Given the description of an element on the screen output the (x, y) to click on. 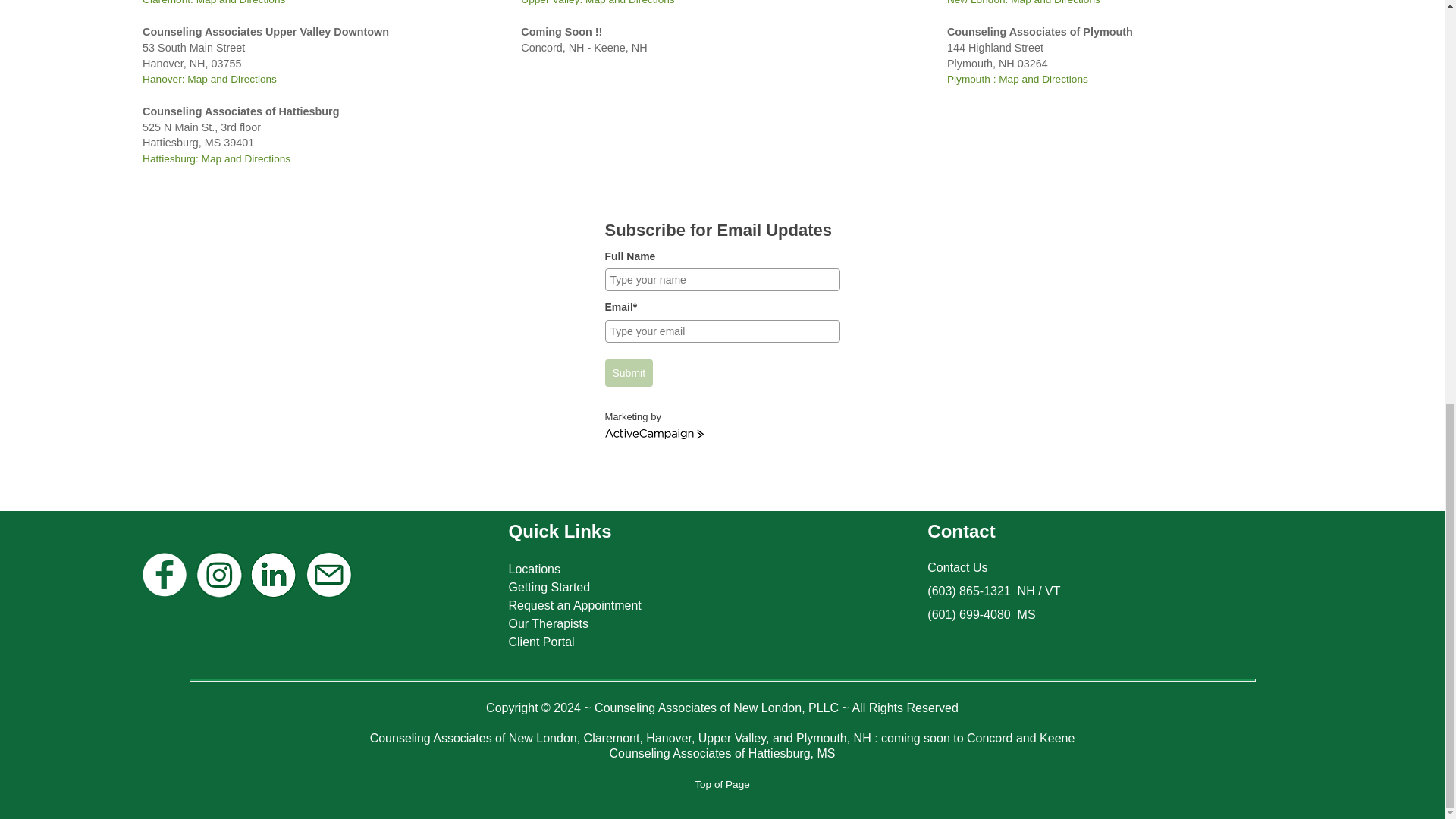
Visit Counseling Asssociates NH Instagram page (218, 595)
Visit Counseling Asssociates NH Facebook page (163, 595)
Send an Email to Counseling Associates NH (328, 595)
Visit Counseling Asssociates NH Linkedin page (273, 595)
